Given the description of an element on the screen output the (x, y) to click on. 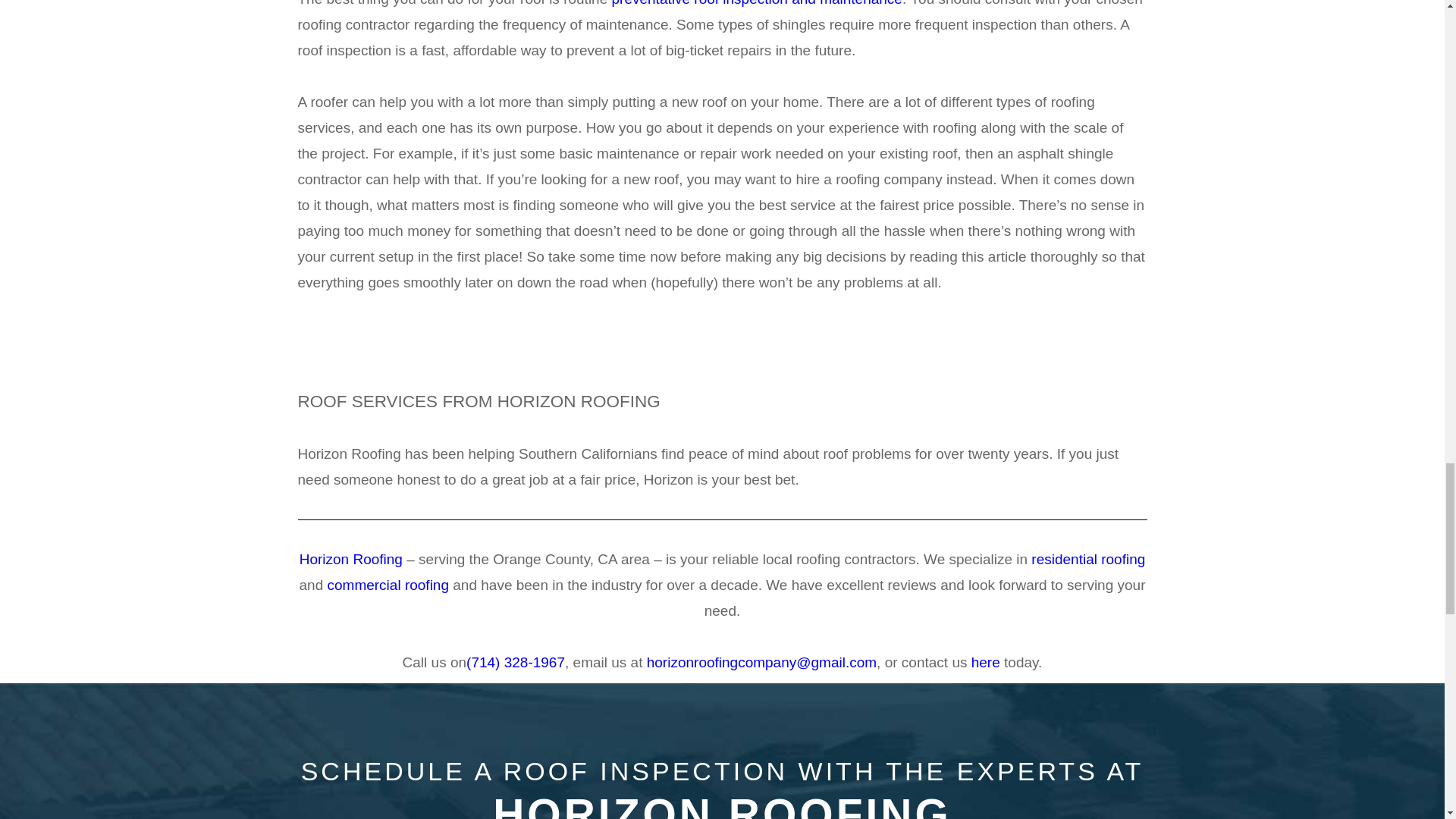
Horizon Roofing (351, 559)
commercial roofing (387, 584)
residential roofing (1087, 559)
preventative roof inspection and maintenance (756, 3)
